Given the description of an element on the screen output the (x, y) to click on. 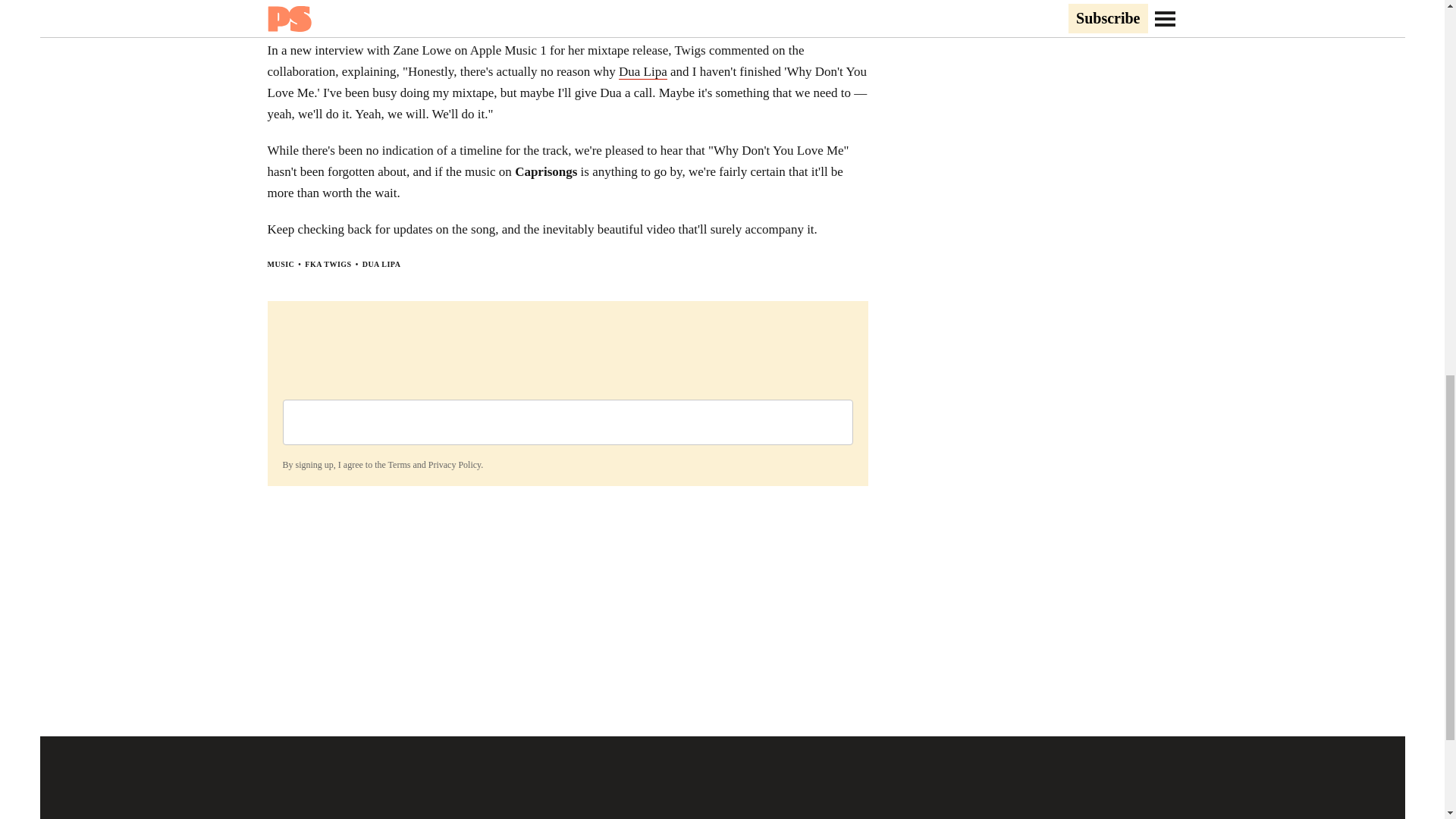
MUSIC (280, 264)
Dua Lipa (642, 71)
DUA LIPA (381, 264)
FKA TWIGS (327, 264)
Terms (399, 464)
Privacy Policy. (455, 464)
